Given the description of an element on the screen output the (x, y) to click on. 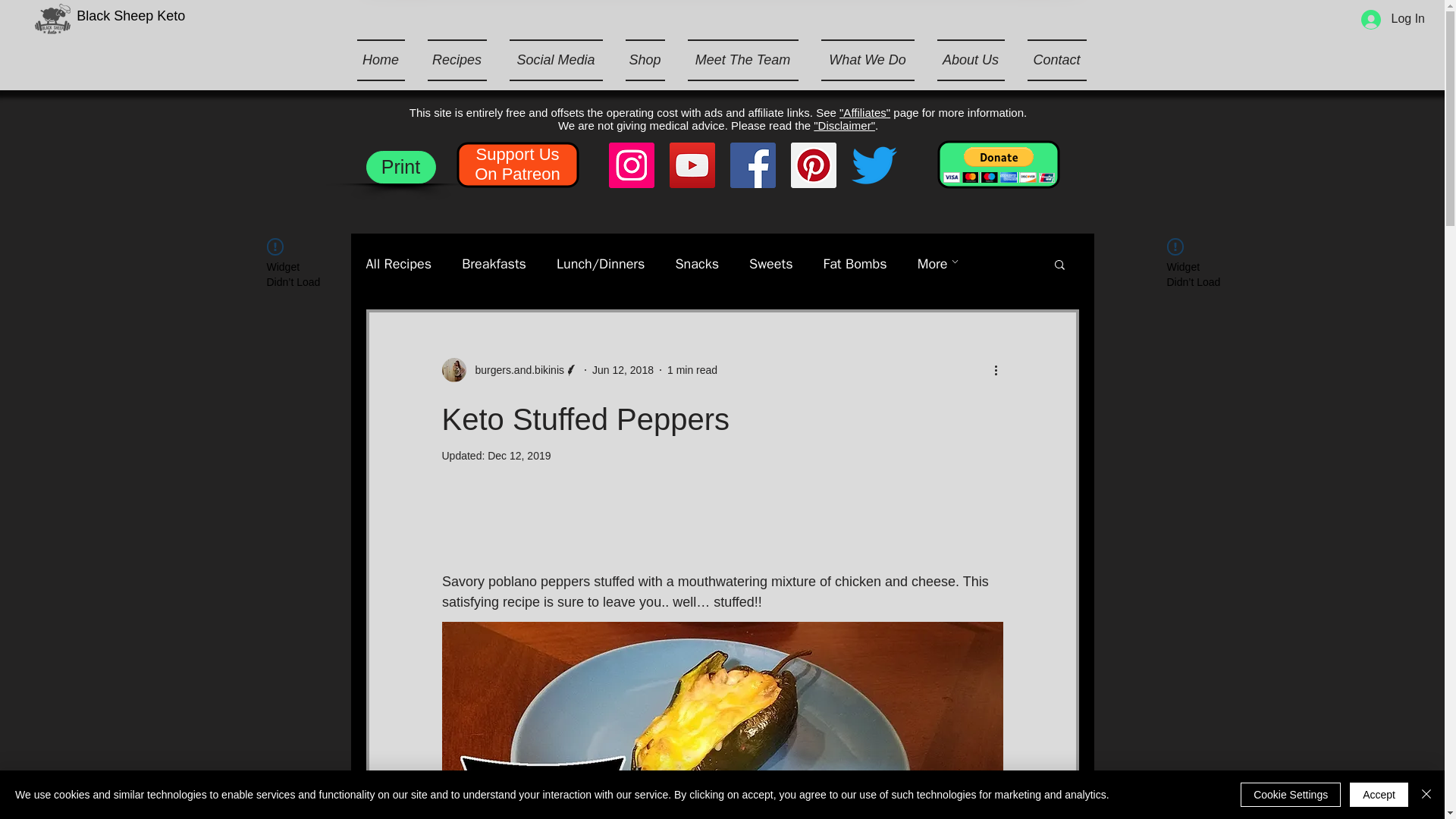
Fat Bombs (855, 263)
Print (400, 166)
Contact (1051, 60)
Breakfasts (493, 263)
Recipes (455, 60)
Dec 12, 2019 (518, 455)
What We Do (867, 60)
About Us (969, 60)
Log In (1393, 18)
burgers.and.bikinis (509, 369)
burgers.and.bikinis (514, 370)
keto stuffed pepper recipe (722, 720)
"Disclaimer" (844, 124)
"Affiliates" (864, 112)
Social Media (554, 60)
